Given the description of an element on the screen output the (x, y) to click on. 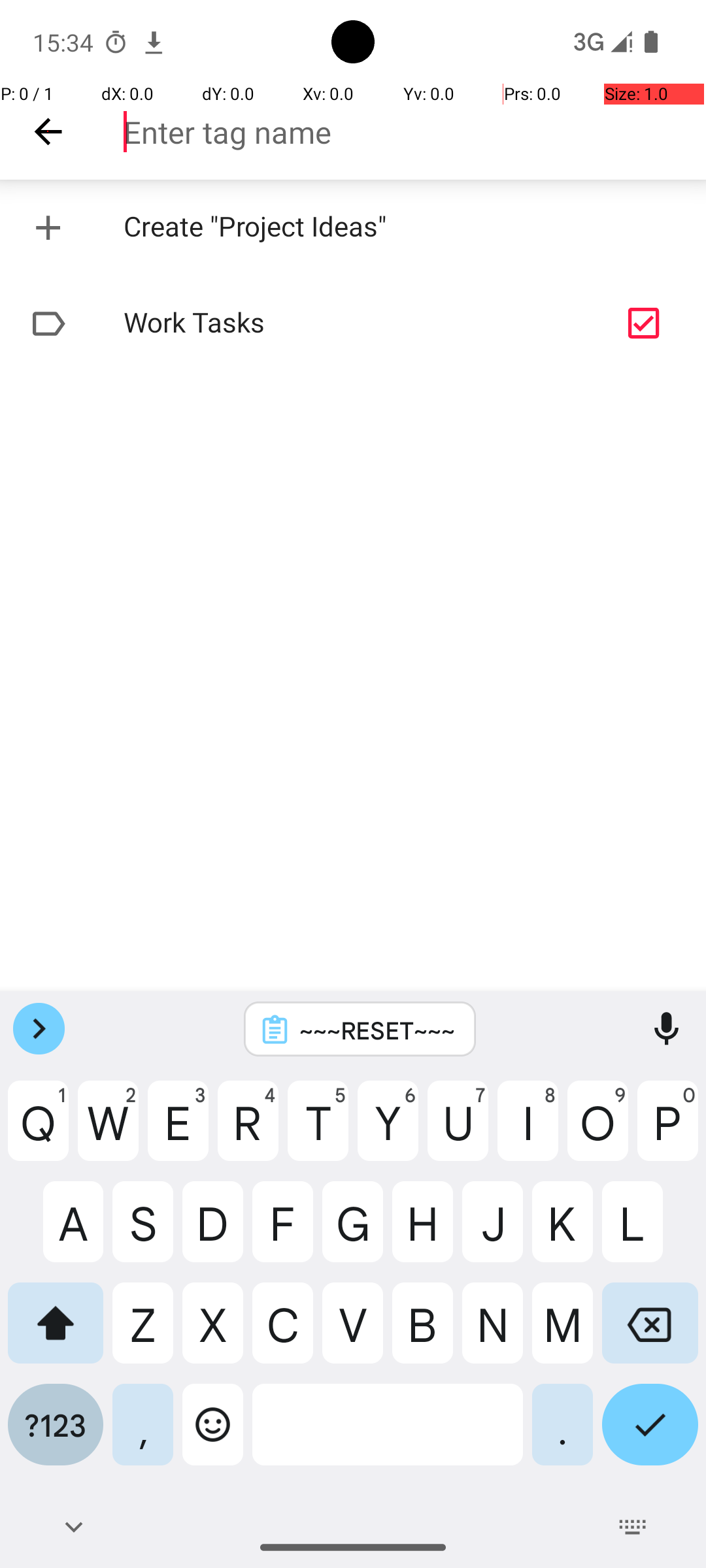
Enter tag name Element type: android.widget.EditText (414, 131)
Create "Project Ideas" Element type: android.widget.TextView (353, 227)
Work Tasks Element type: android.widget.TextView (311, 323)
